Given the description of an element on the screen output the (x, y) to click on. 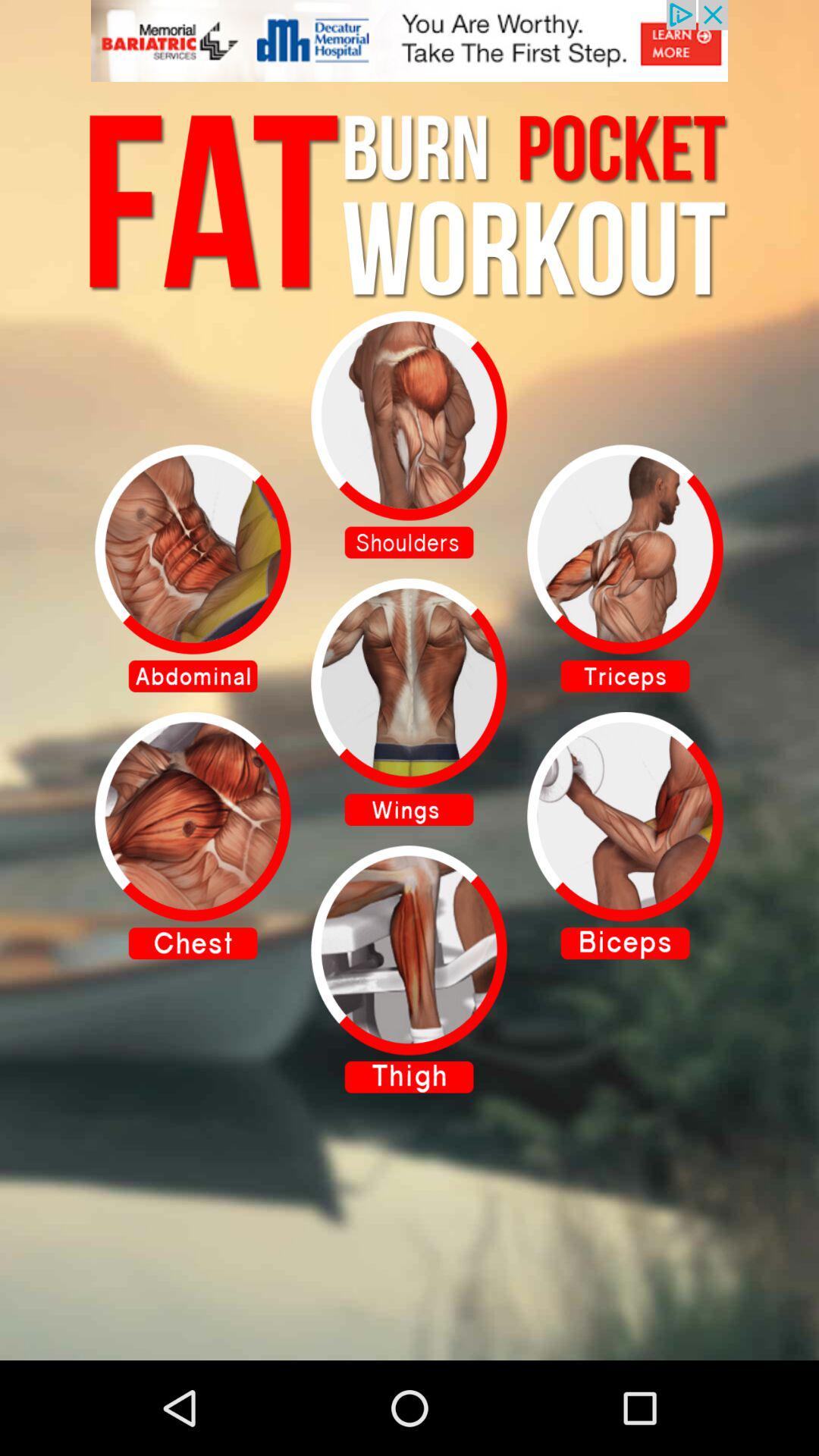
workout (625, 568)
